Given the description of an element on the screen output the (x, y) to click on. 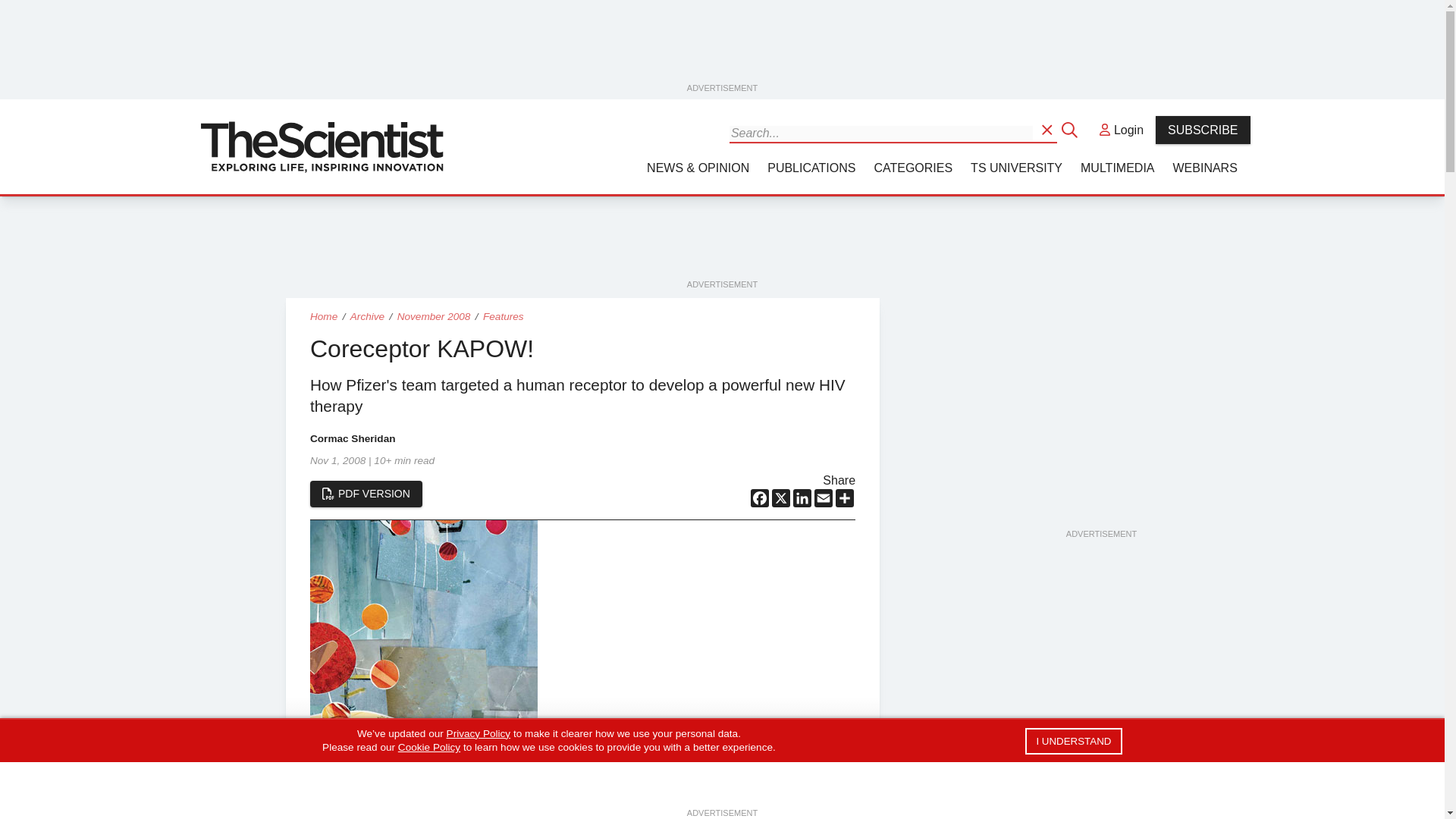
3rd party ad content (1100, 432)
3rd party ad content (722, 242)
3rd party ad content (722, 46)
Close Search (1071, 129)
3rd party ad content (1100, 705)
Open Search (1049, 129)
